Given the description of an element on the screen output the (x, y) to click on. 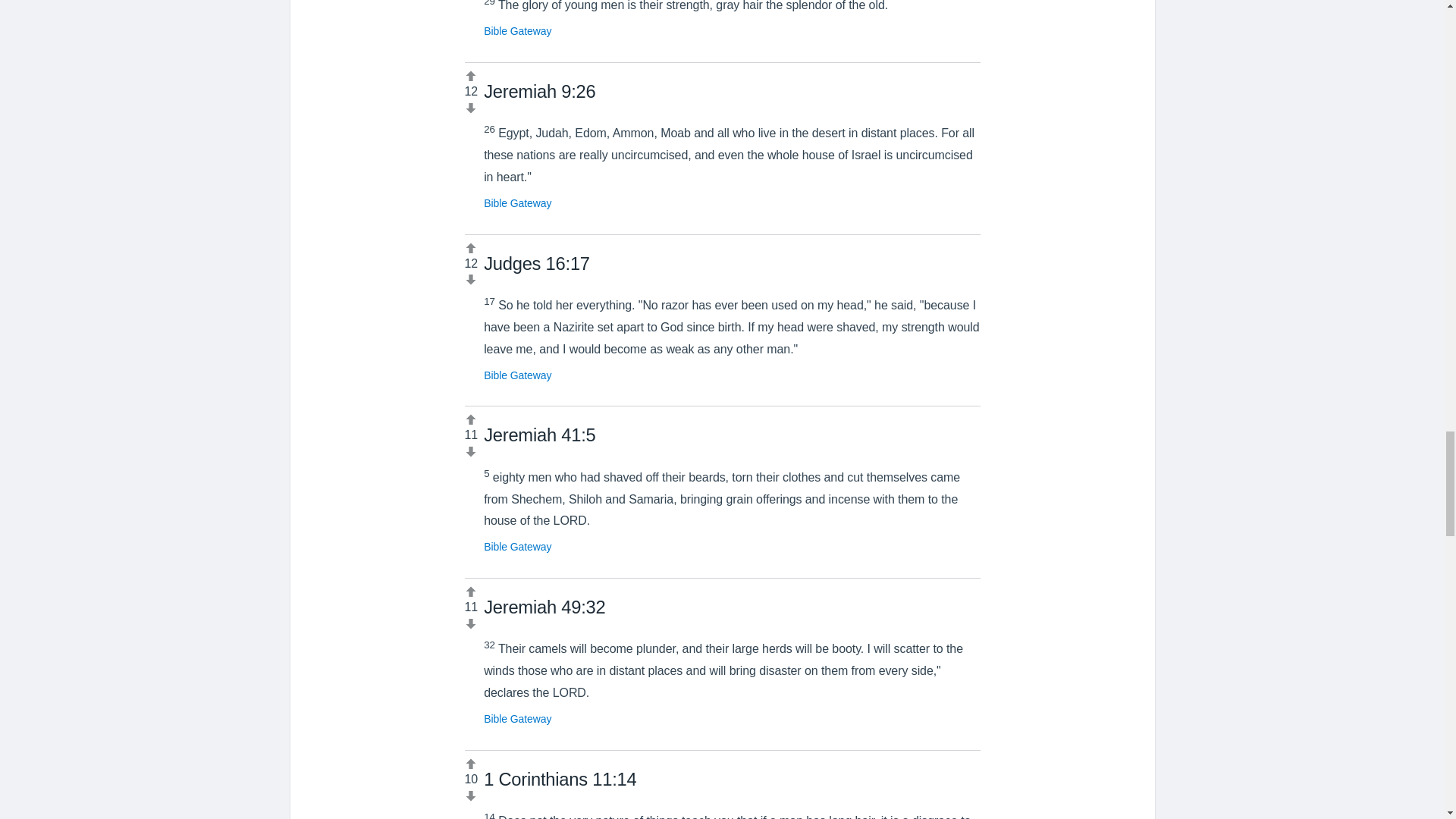
Bible Gateway (517, 375)
Bible Gateway (517, 718)
Bible Gateway (517, 30)
Bible Gateway (517, 546)
Bible Gateway (517, 203)
